Given the description of an element on the screen output the (x, y) to click on. 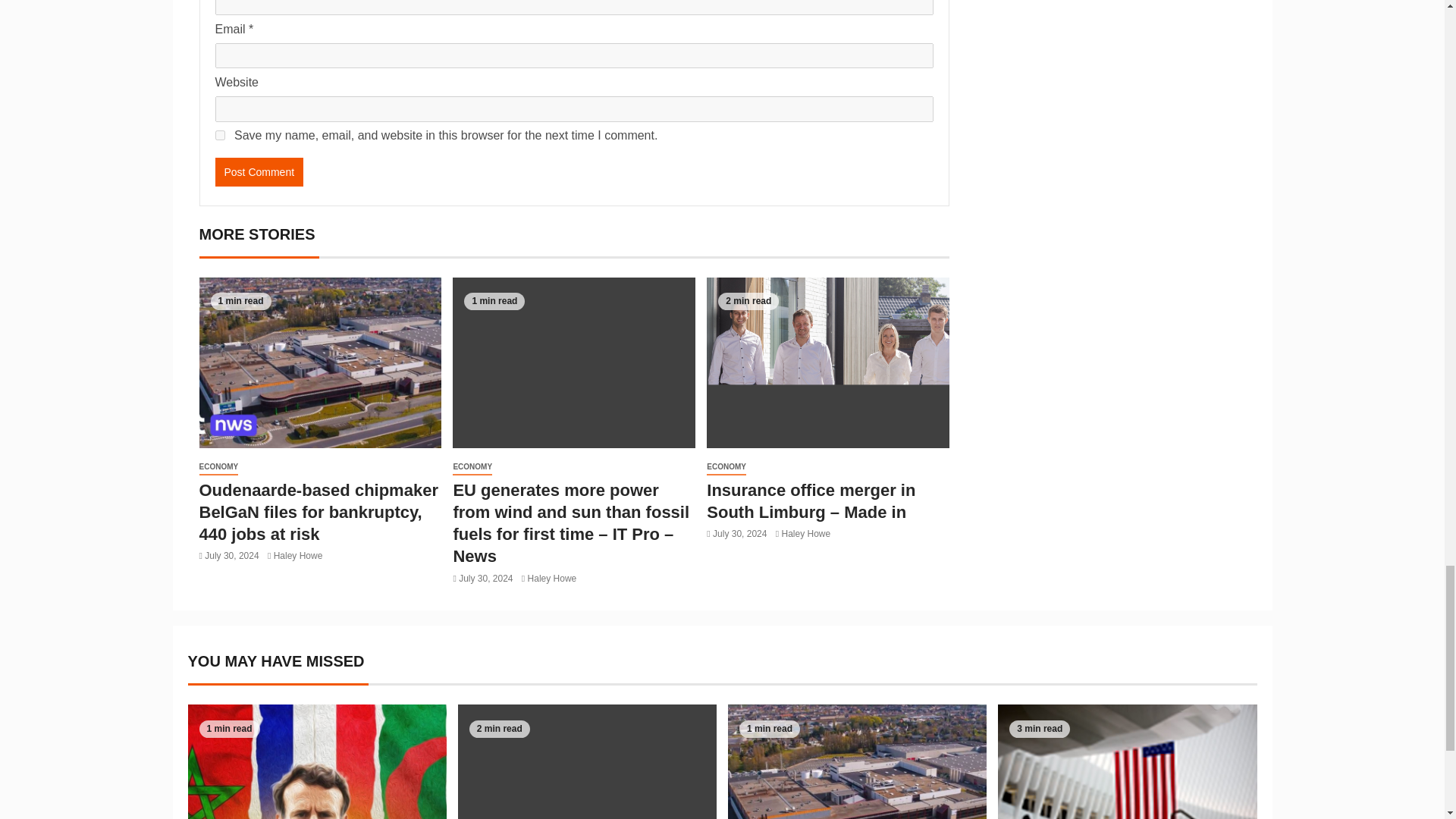
Post Comment (259, 172)
yes (220, 135)
Post Comment (259, 172)
